Given the description of an element on the screen output the (x, y) to click on. 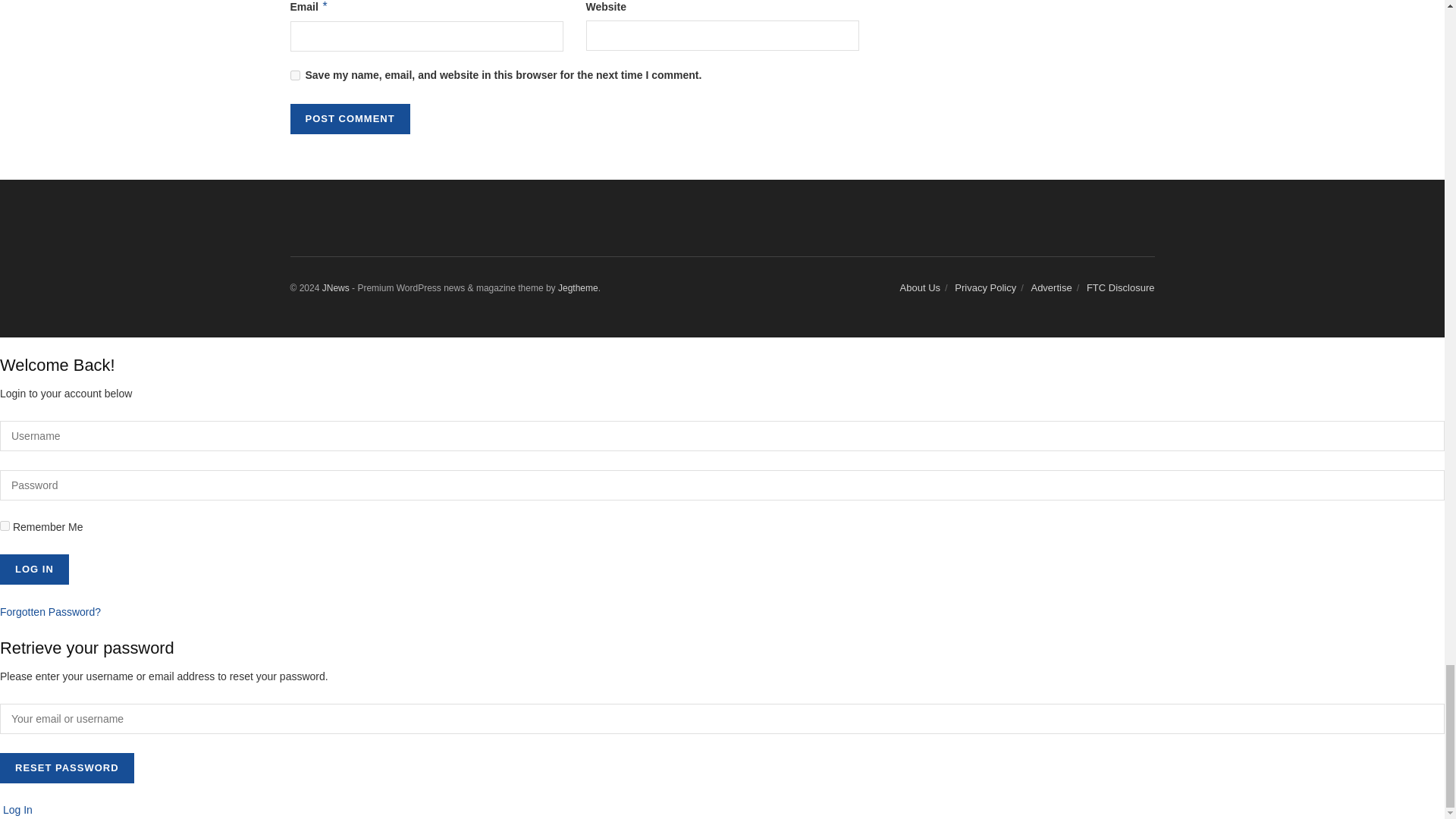
yes (294, 75)
true (5, 525)
Post Comment (349, 119)
Log In (34, 569)
Jegtheme (577, 287)
Reset Password (66, 767)
